Given the description of an element on the screen output the (x, y) to click on. 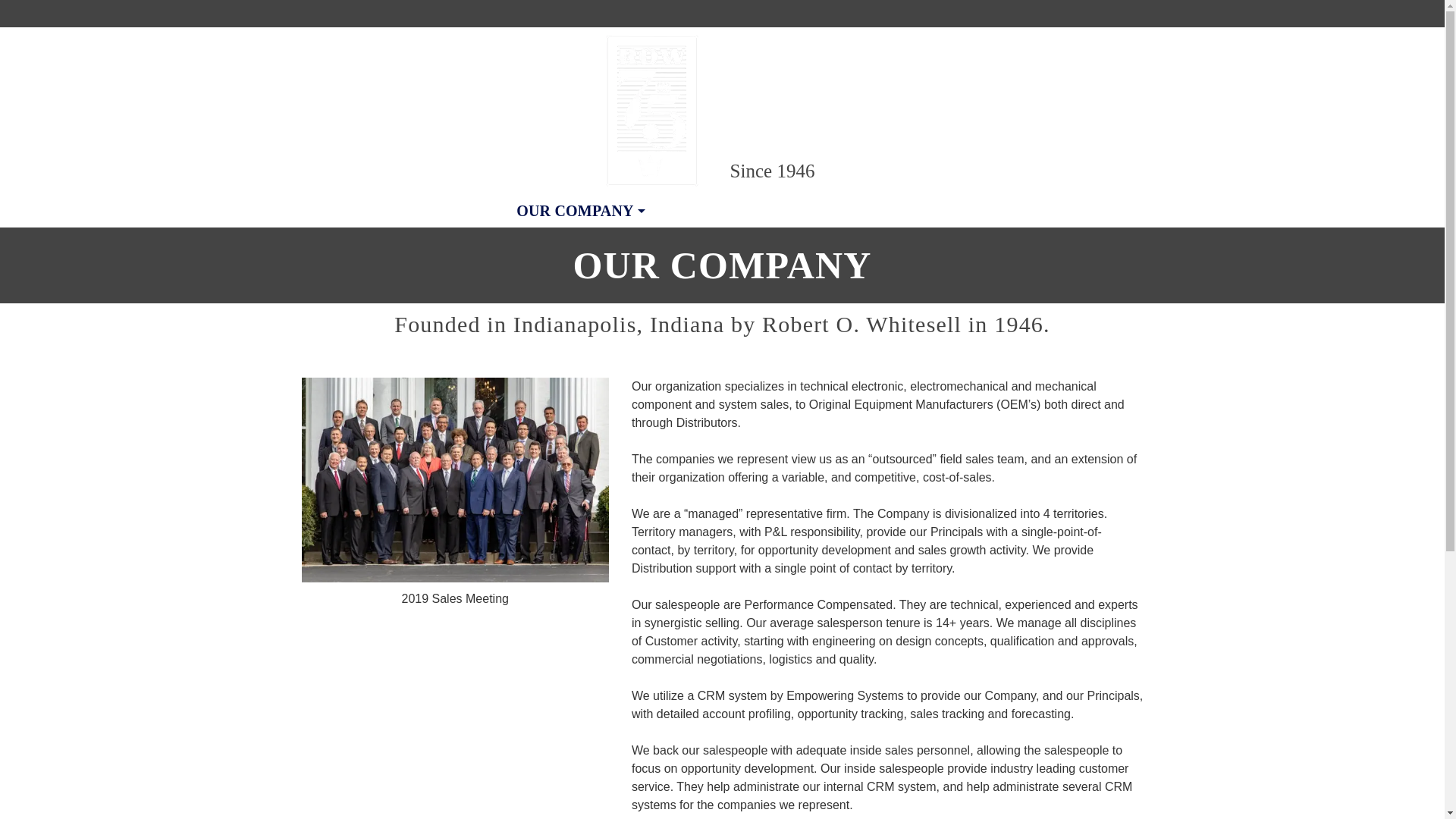
TERRITORY (713, 210)
HOME (476, 210)
PRODUCTS (829, 210)
OUR COMPANY (580, 210)
CONTACT US (941, 210)
